Given the description of an element on the screen output the (x, y) to click on. 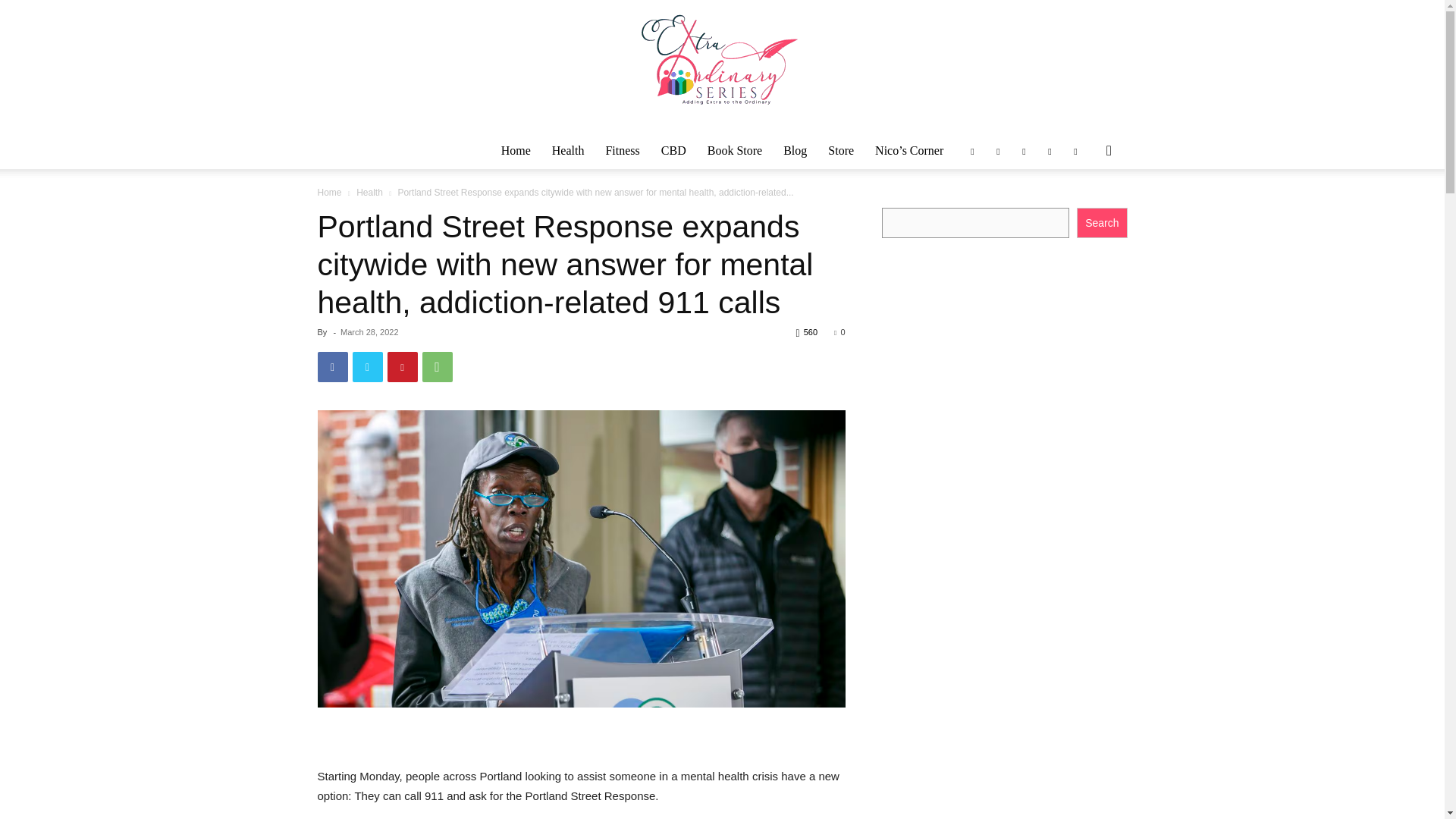
Health (369, 192)
CBD (673, 150)
Home (515, 150)
Fitness (621, 150)
View all posts in Health (369, 192)
Book Store (735, 150)
Health (568, 150)
Store (840, 150)
Twitter (366, 367)
Home (328, 192)
WhatsApp (436, 367)
Blog (794, 150)
Search (1085, 211)
Pinterest (401, 367)
0 (839, 331)
